Given the description of an element on the screen output the (x, y) to click on. 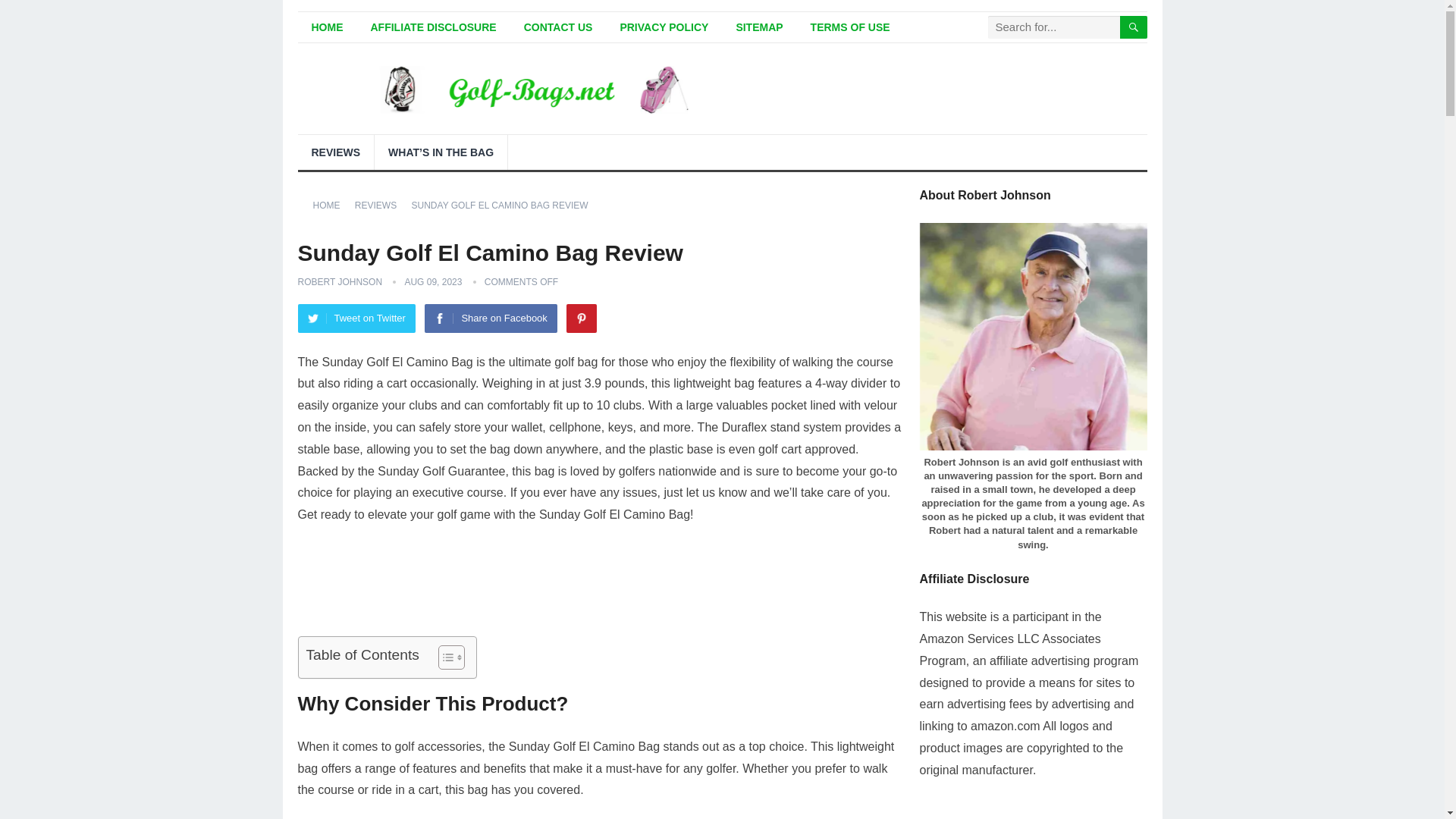
TERMS OF USE (850, 27)
Tweet on Twitter (355, 317)
HOME (331, 204)
HOME (326, 27)
REVIEWS (335, 152)
SITEMAP (759, 27)
Share on Facebook (490, 317)
View all posts in Reviews (381, 204)
Pinterest (581, 317)
Posts by Robert Johnson (339, 281)
